Given the description of an element on the screen output the (x, y) to click on. 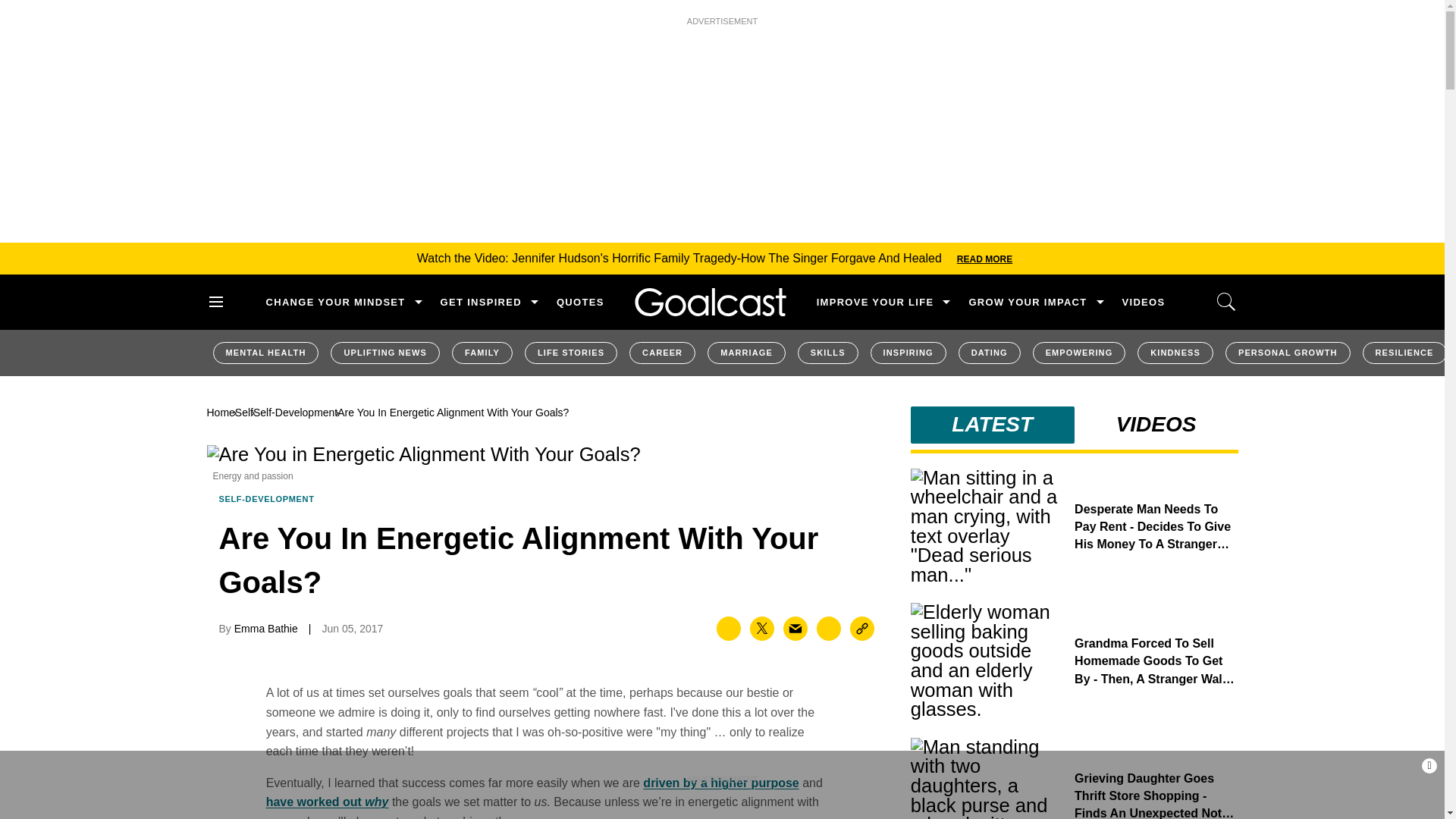
VIDEOS (1144, 301)
GET INSPIRED (481, 301)
GROW YOUR IMPACT (1027, 301)
IMPROVE YOUR LIFE (875, 301)
Copy this link to clipboard (862, 628)
CHANGE YOUR MINDSET (334, 301)
QUOTES (580, 301)
